Given the description of an element on the screen output the (x, y) to click on. 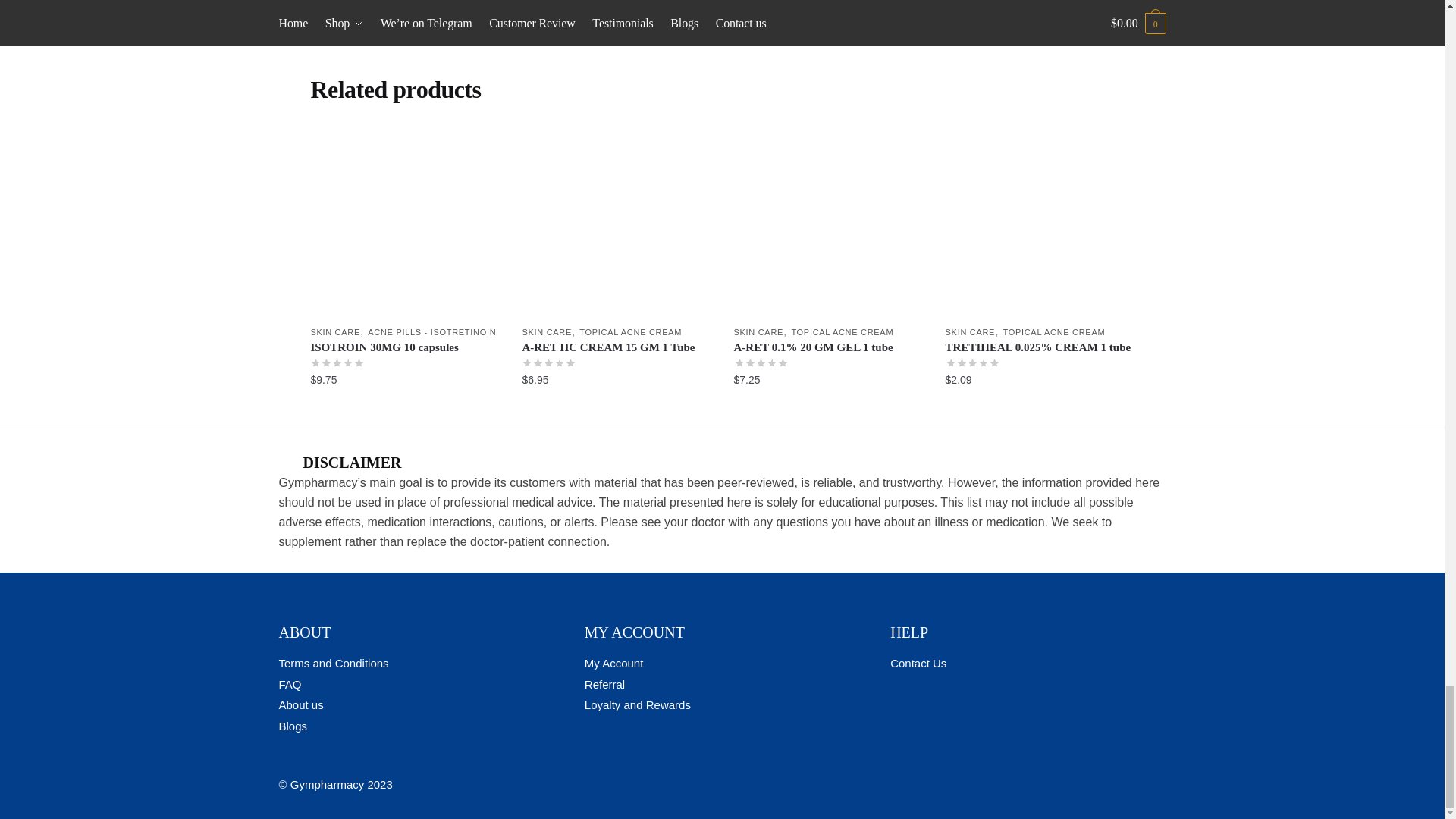
About (301, 704)
My account (614, 662)
FAQ (290, 684)
Terms and Conditions (333, 662)
Referral (604, 684)
Loyalty and Rewards (637, 704)
